Given the description of an element on the screen output the (x, y) to click on. 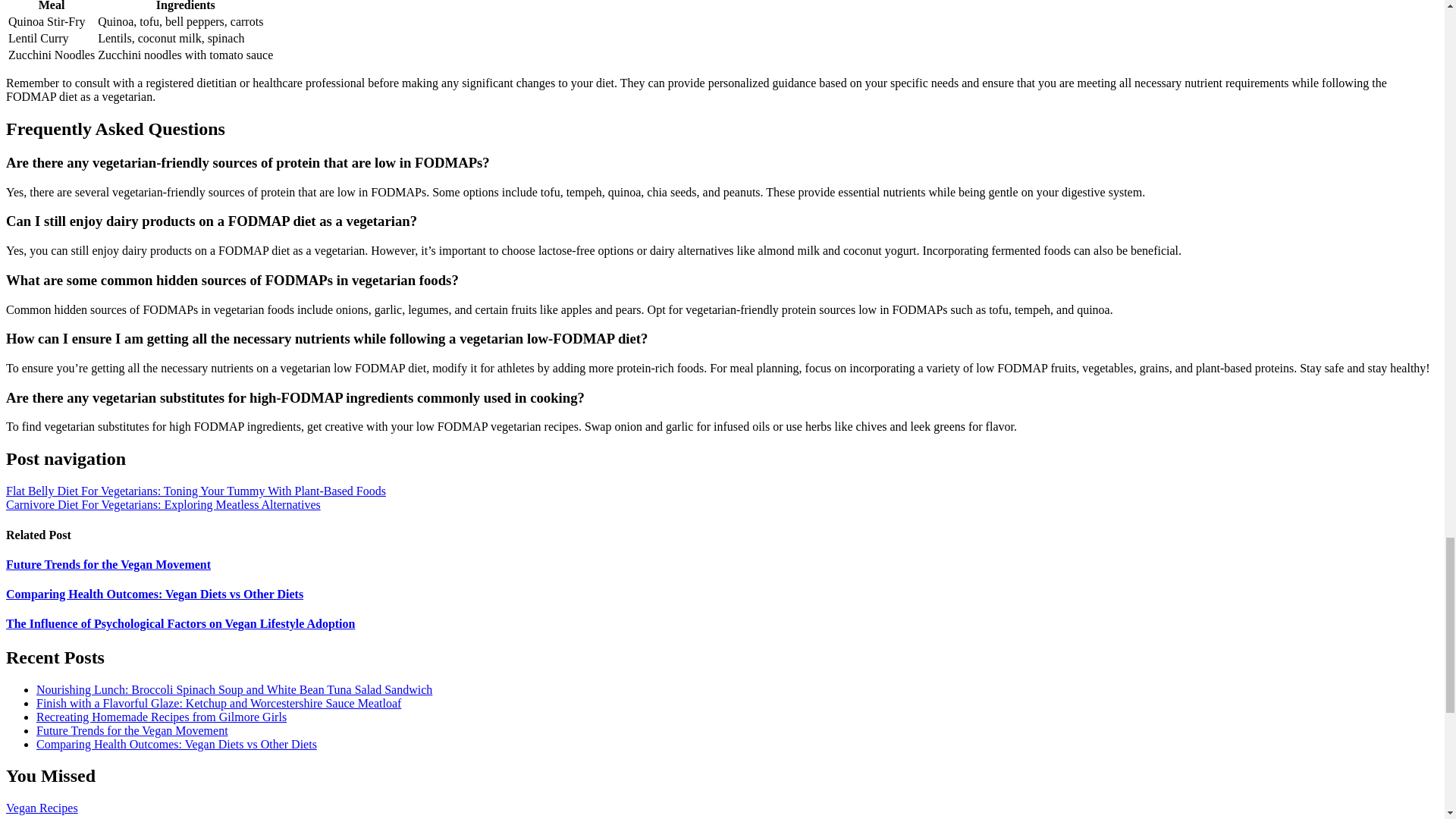
Permalink to: Future Trends for the Vegan Movement (108, 563)
